Given the description of an element on the screen output the (x, y) to click on. 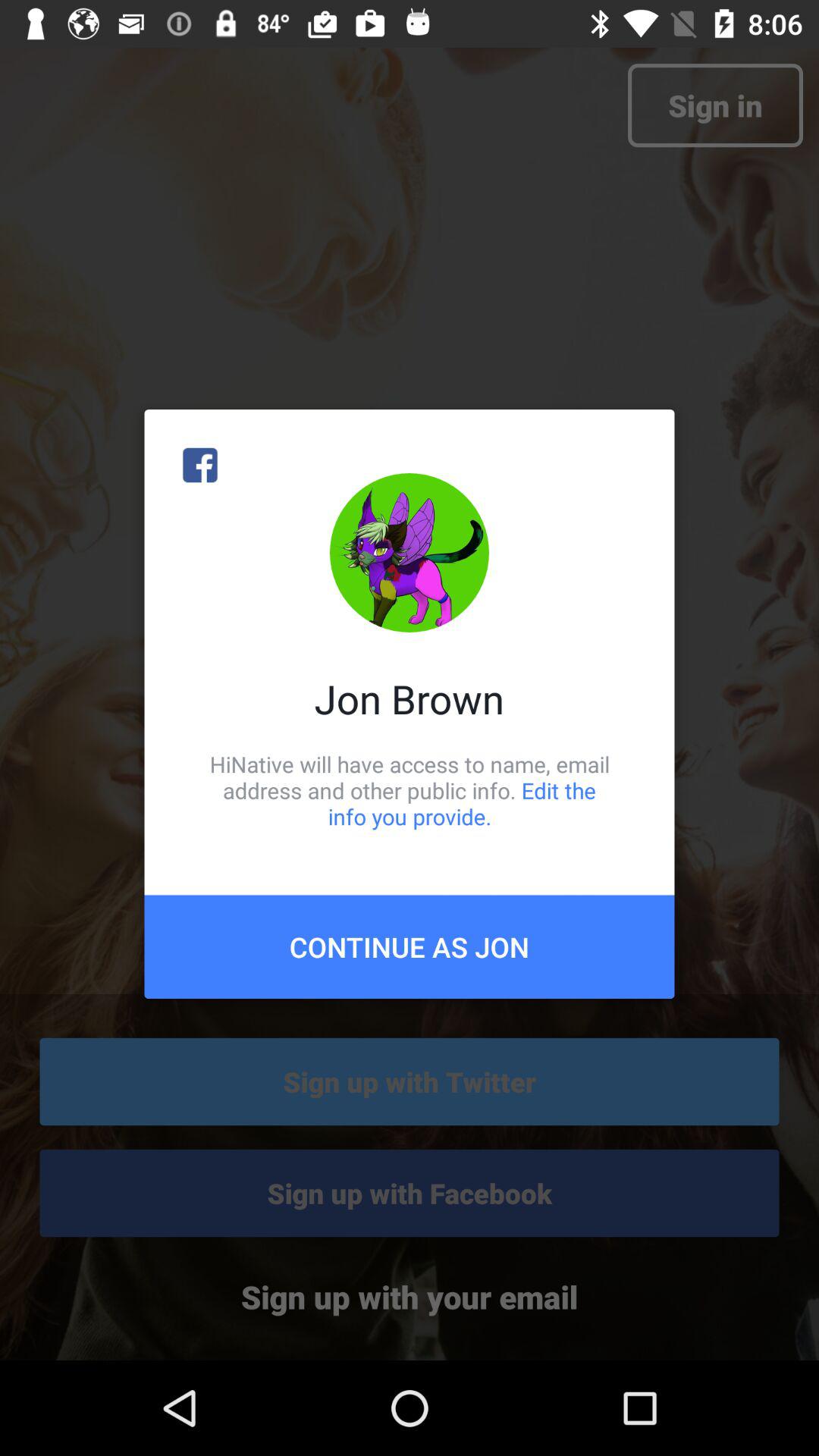
flip to continue as jon (409, 946)
